Given the description of an element on the screen output the (x, y) to click on. 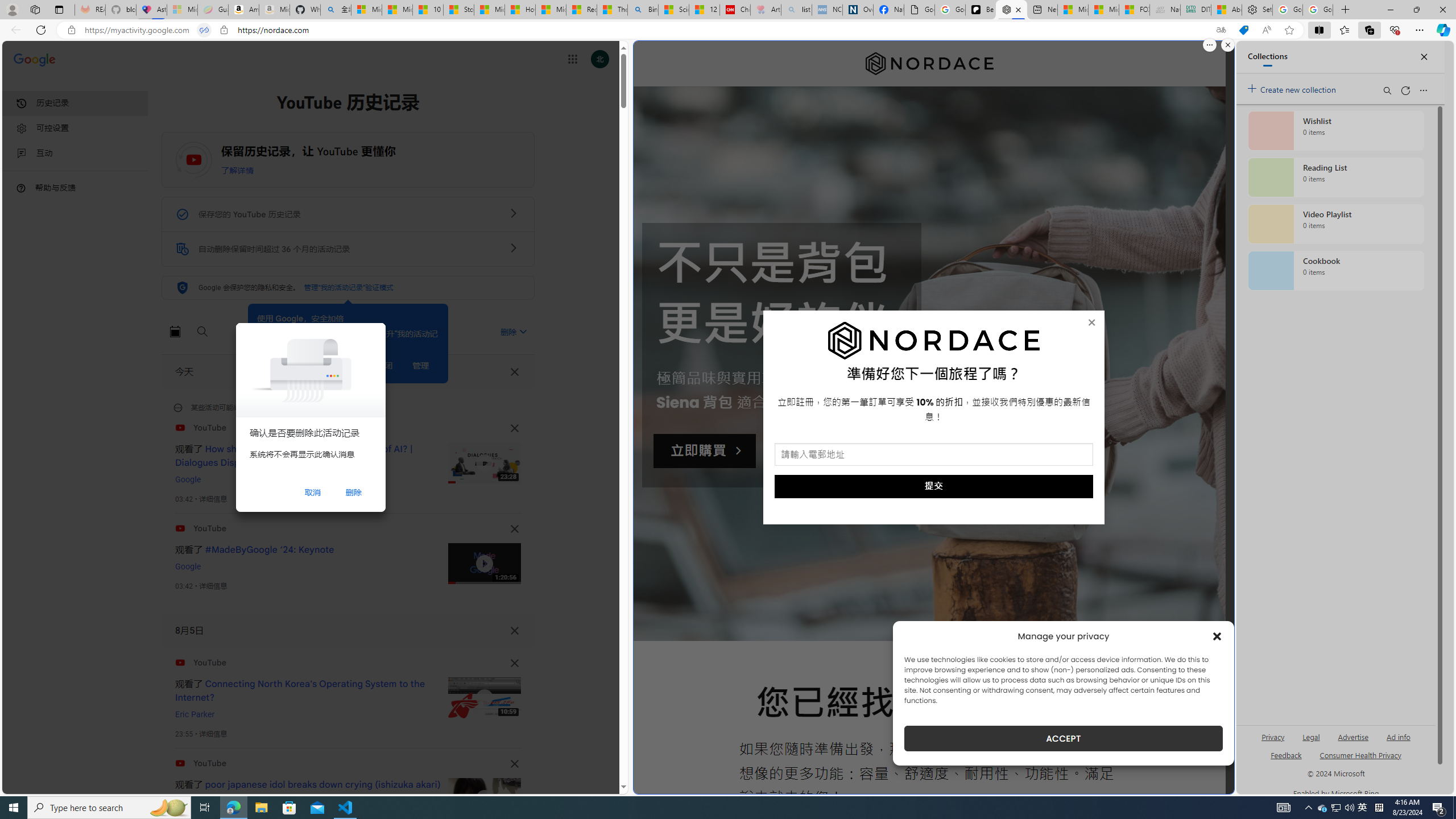
Class: cmplz-close (1217, 636)
